Given the description of an element on the screen output the (x, y) to click on. 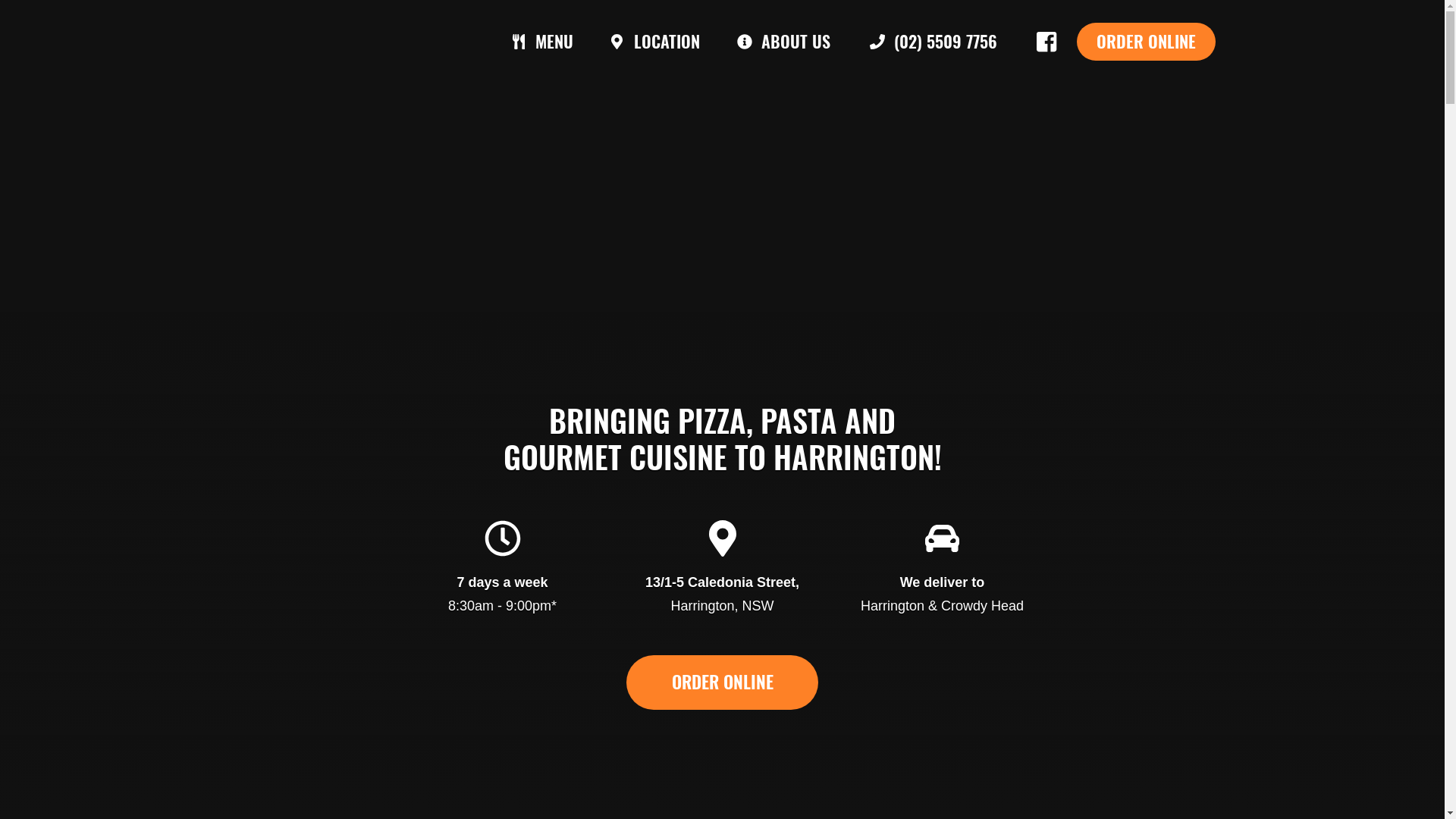
ABOUT US Element type: text (783, 41)
MENU Element type: text (541, 41)
FACEBOOK Element type: text (1046, 41)
Nate's Pizzeria Element type: text (263, 41)
(02) 5509 7756 Element type: text (933, 41)
ORDER ONLINE Element type: text (1145, 41)
13/1-5 Caledonia Street,
Harrington, NSW Element type: text (721, 594)
LOCATION Element type: text (654, 41)
ORDER ONLINE Element type: text (722, 682)
